Given the description of an element on the screen output the (x, y) to click on. 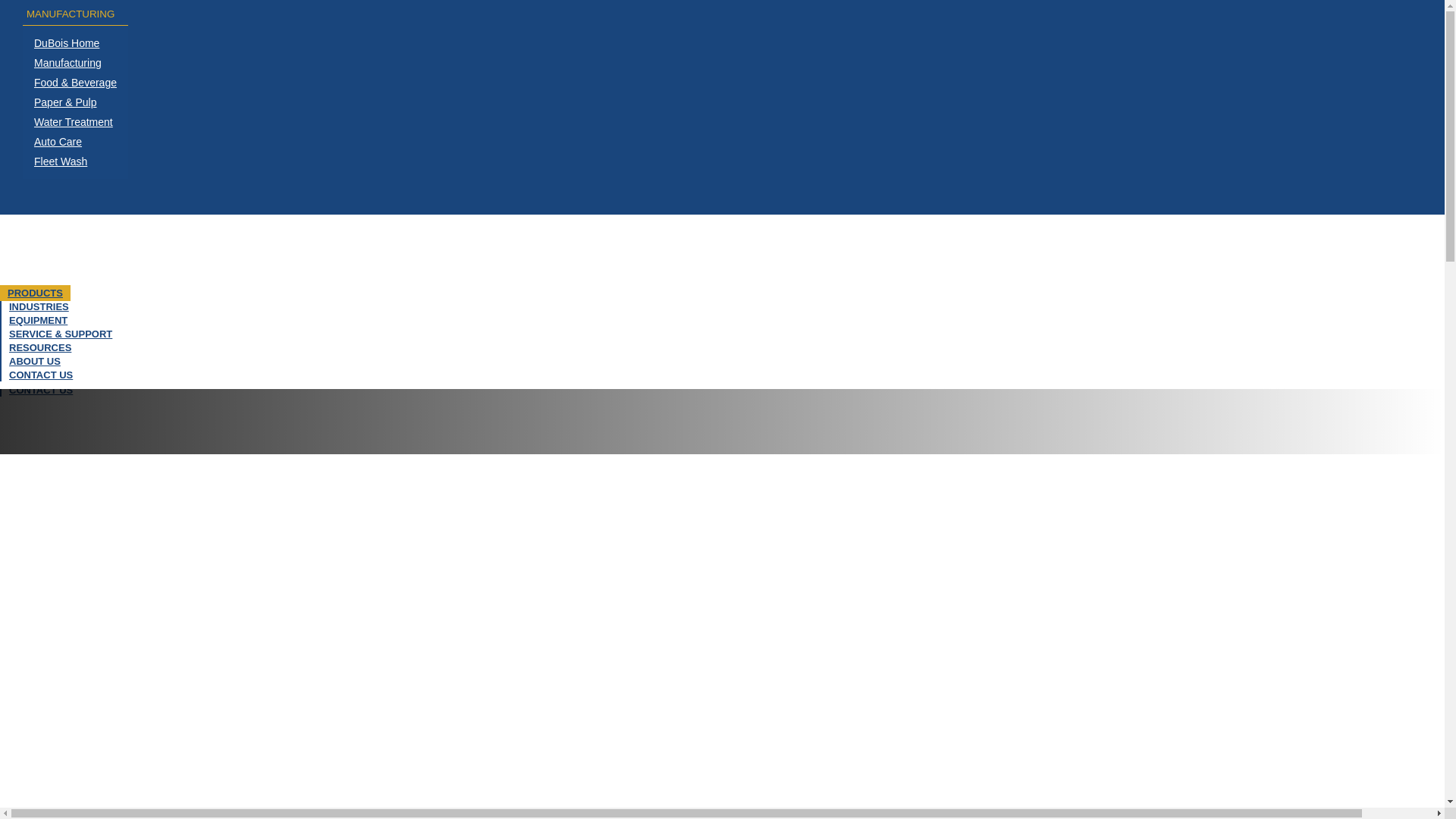
INDUSTRIES (39, 306)
Fleet Wash (75, 161)
Manufacturing (75, 62)
MANUFACTURING   (73, 14)
Water Treatment (75, 121)
DuBois Home (75, 43)
PRODUCTS (34, 293)
Auto Care (75, 141)
